Given the description of an element on the screen output the (x, y) to click on. 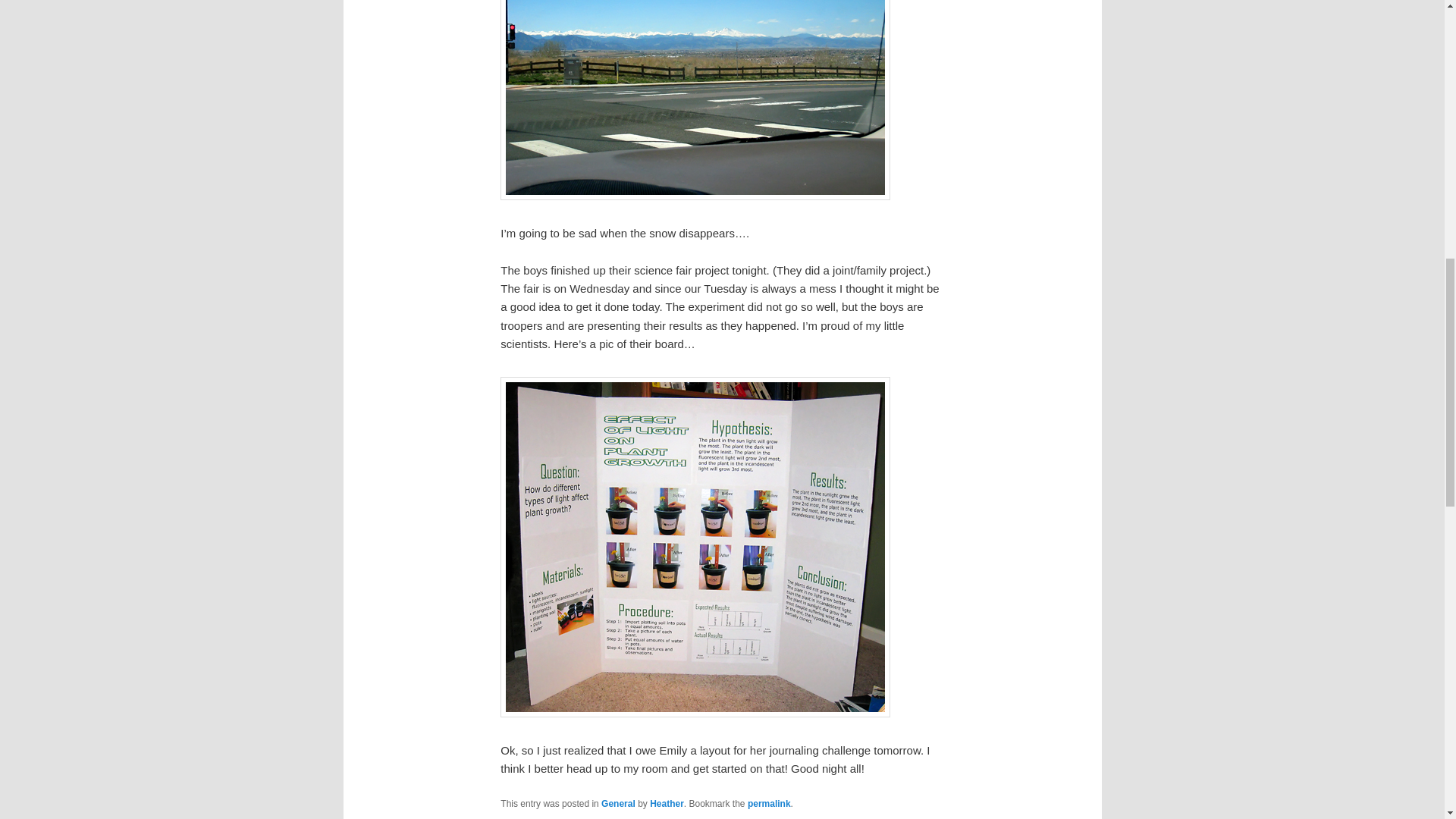
sciencefairsm (694, 546)
General (617, 803)
Heather (666, 803)
Permalink to A random kind of day. (769, 803)
permalink (769, 803)
